Given the description of an element on the screen output the (x, y) to click on. 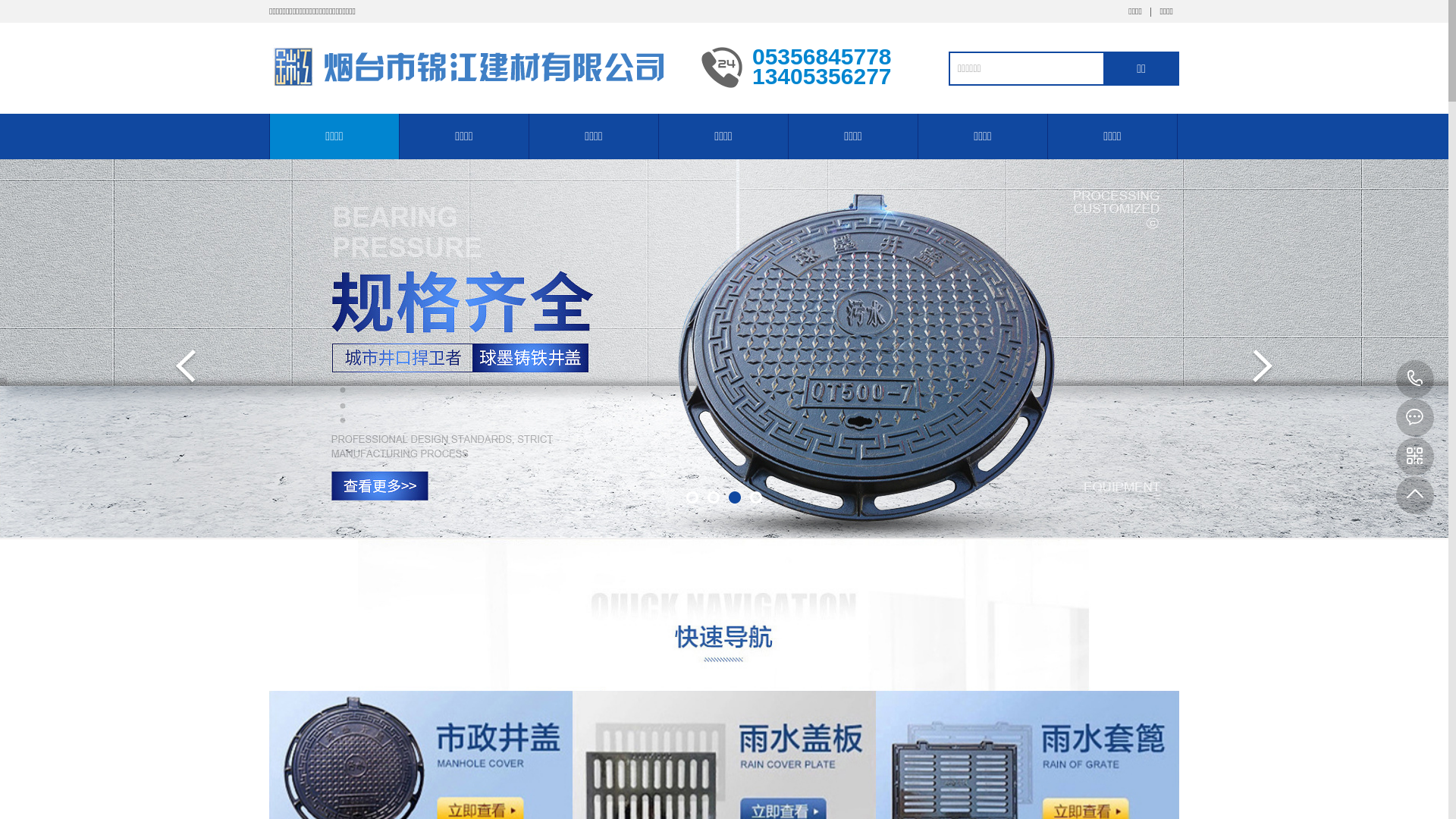
05356845778 Element type: text (1415, 379)
